Given the description of an element on the screen output the (x, y) to click on. 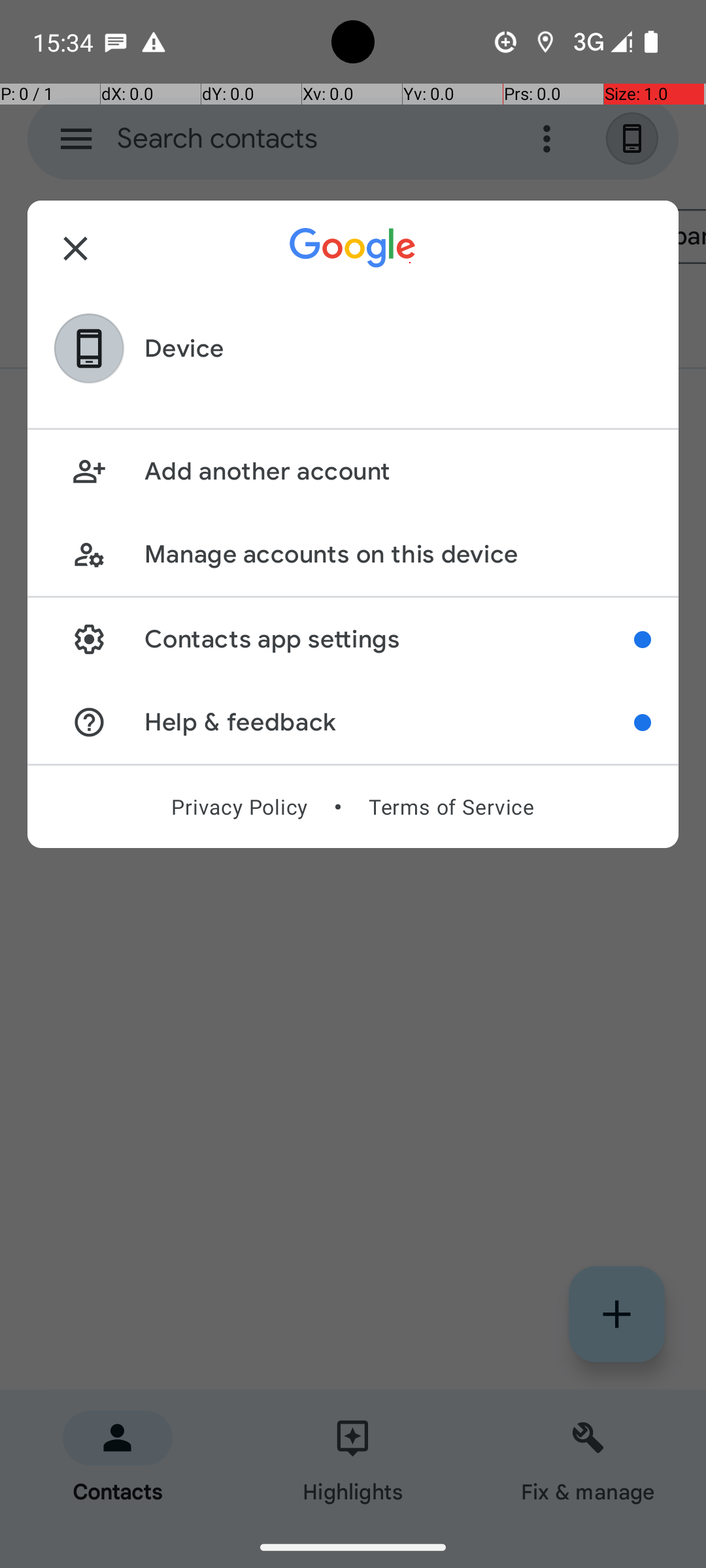
Close Element type: android.widget.ImageView (75, 248)
Privacy Policy Element type: android.widget.Button (239, 806)
Terms of Service Element type: android.widget.Button (450, 806)
Device Element type: android.widget.TextView (184, 348)
Add another account Element type: android.widget.TextView (397, 471)
Manage accounts on this device Element type: android.widget.TextView (397, 554)
Contacts app settings Element type: android.widget.TextView (389, 638)
Now you can find Settings and Help & feedback here Element type: android.widget.FrameLayout (642, 639)
Help & feedback Element type: android.widget.TextView (389, 721)
